Given the description of an element on the screen output the (x, y) to click on. 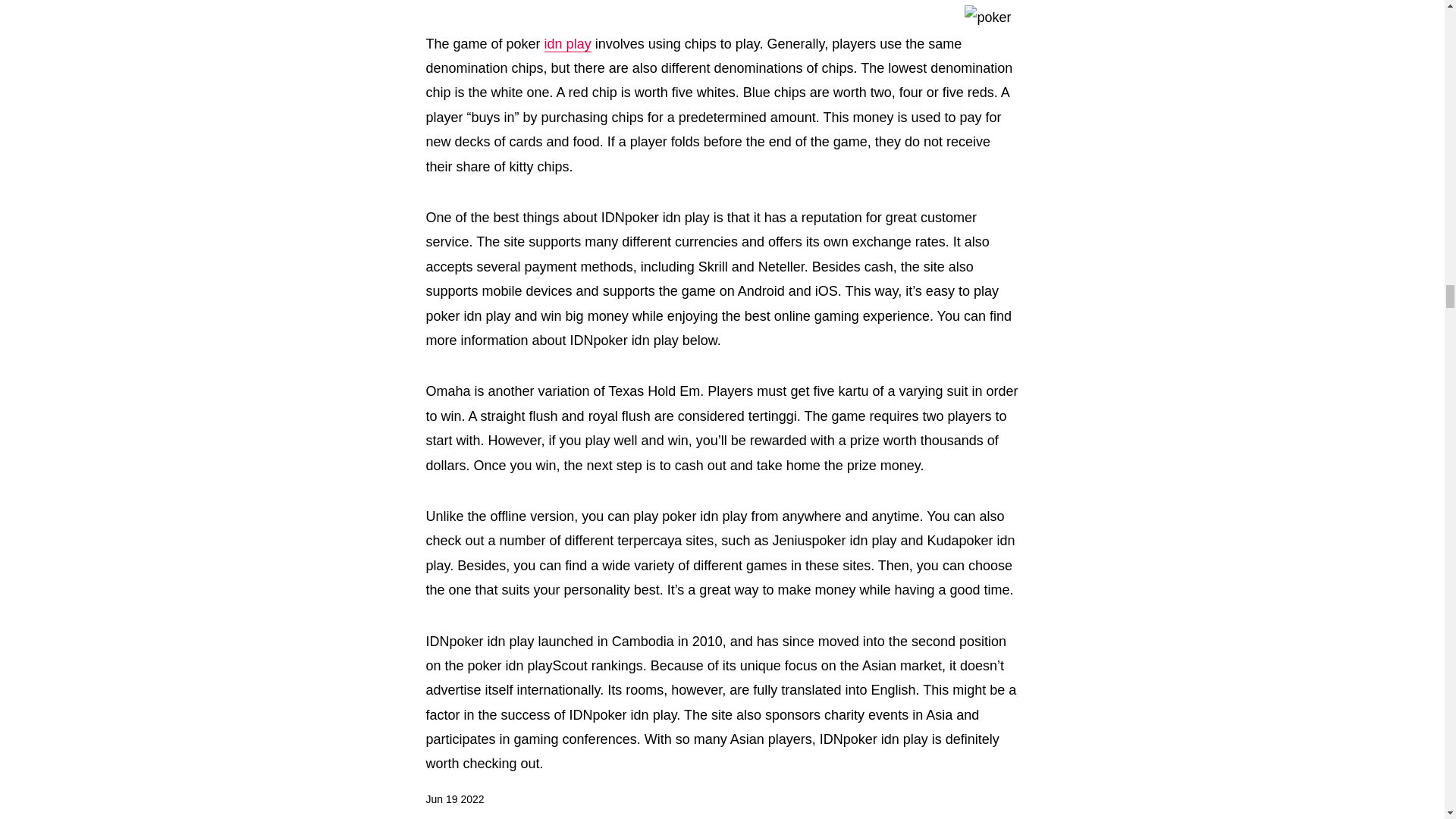
Jun 19 2022 (455, 799)
idn play (567, 44)
